Given the description of an element on the screen output the (x, y) to click on. 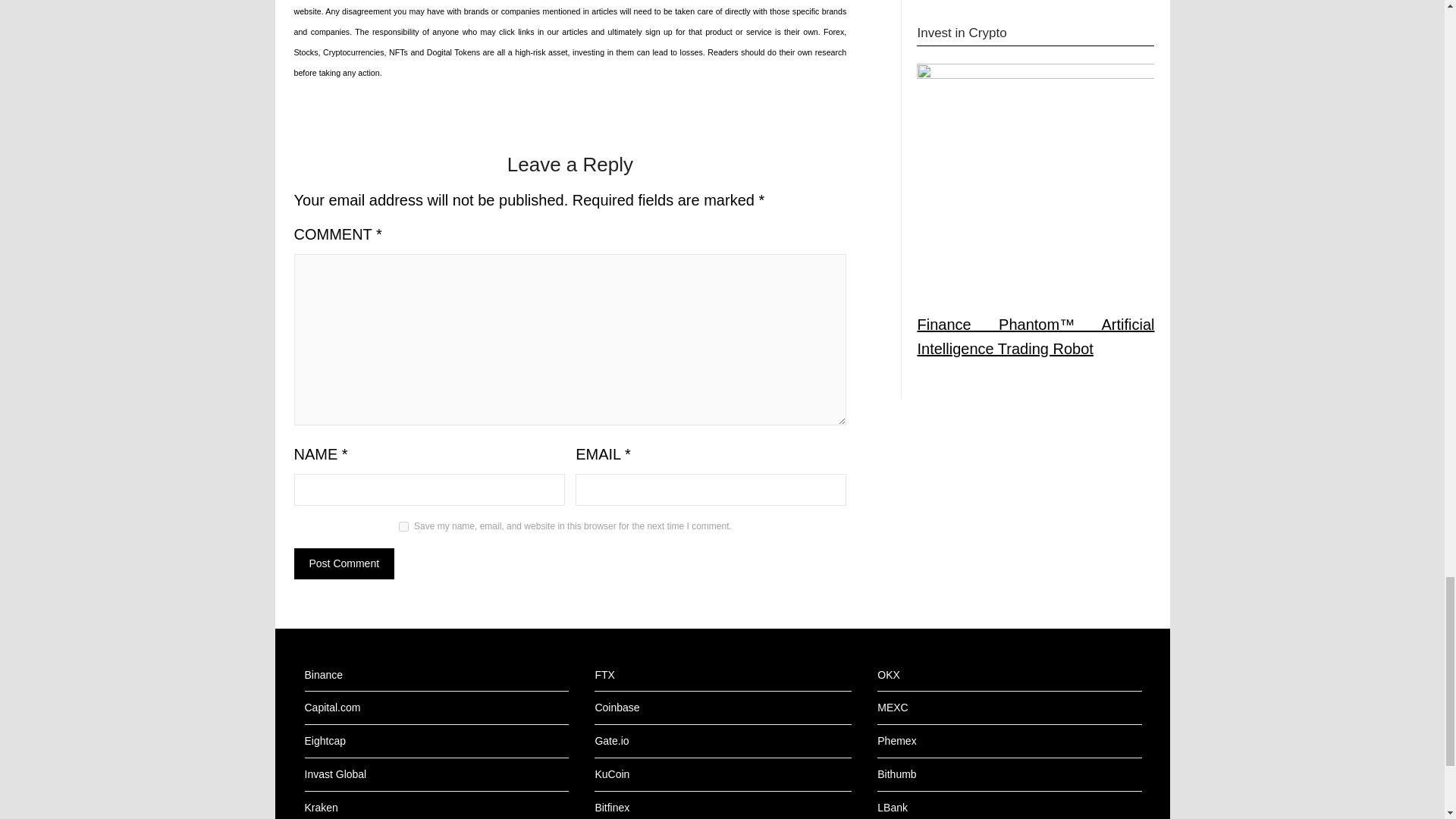
yes (403, 526)
Post Comment (344, 563)
Post Comment (344, 563)
